Given the description of an element on the screen output the (x, y) to click on. 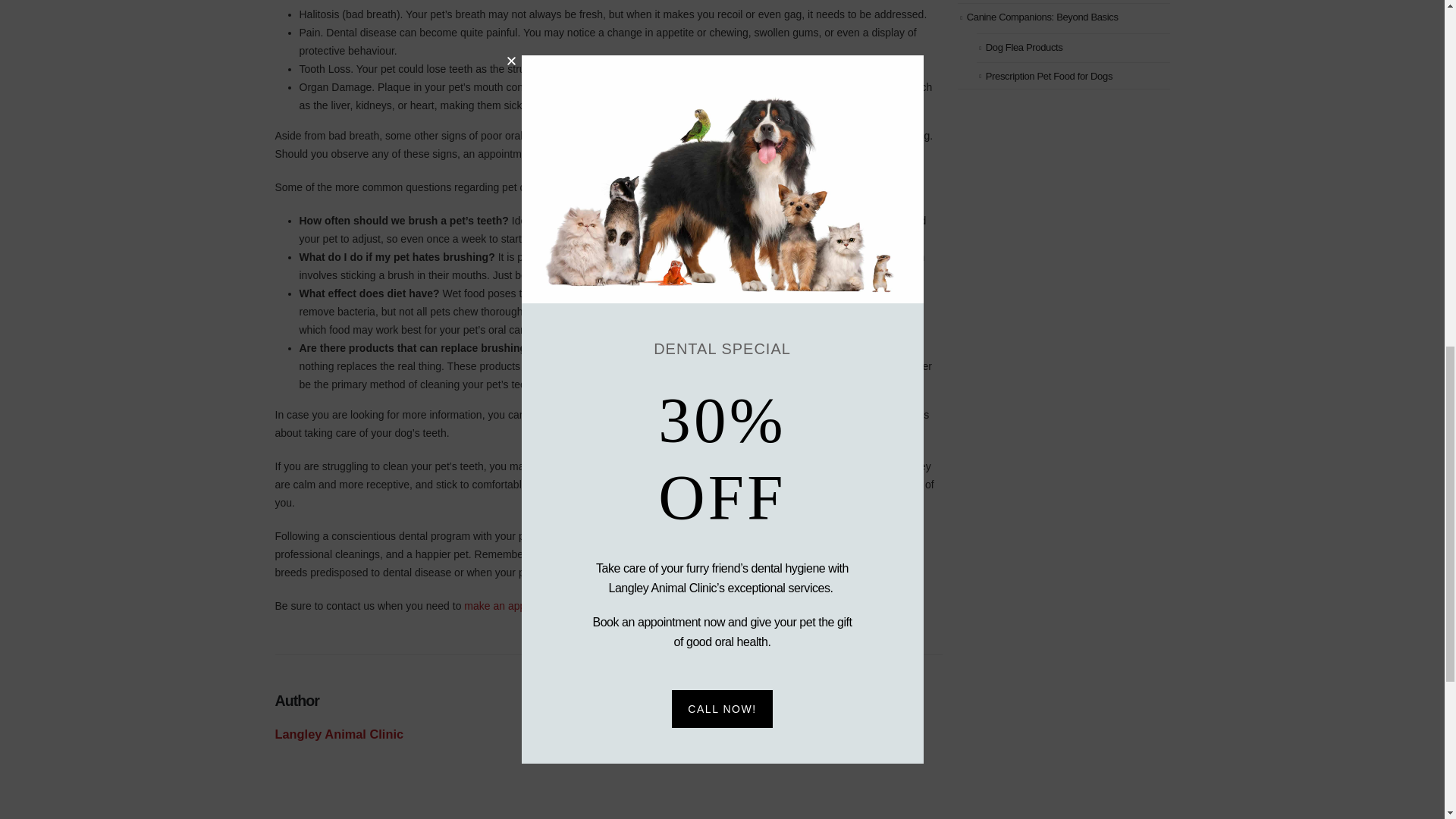
Posts by Langley Animal Clinic (339, 734)
